Given the description of an element on the screen output the (x, y) to click on. 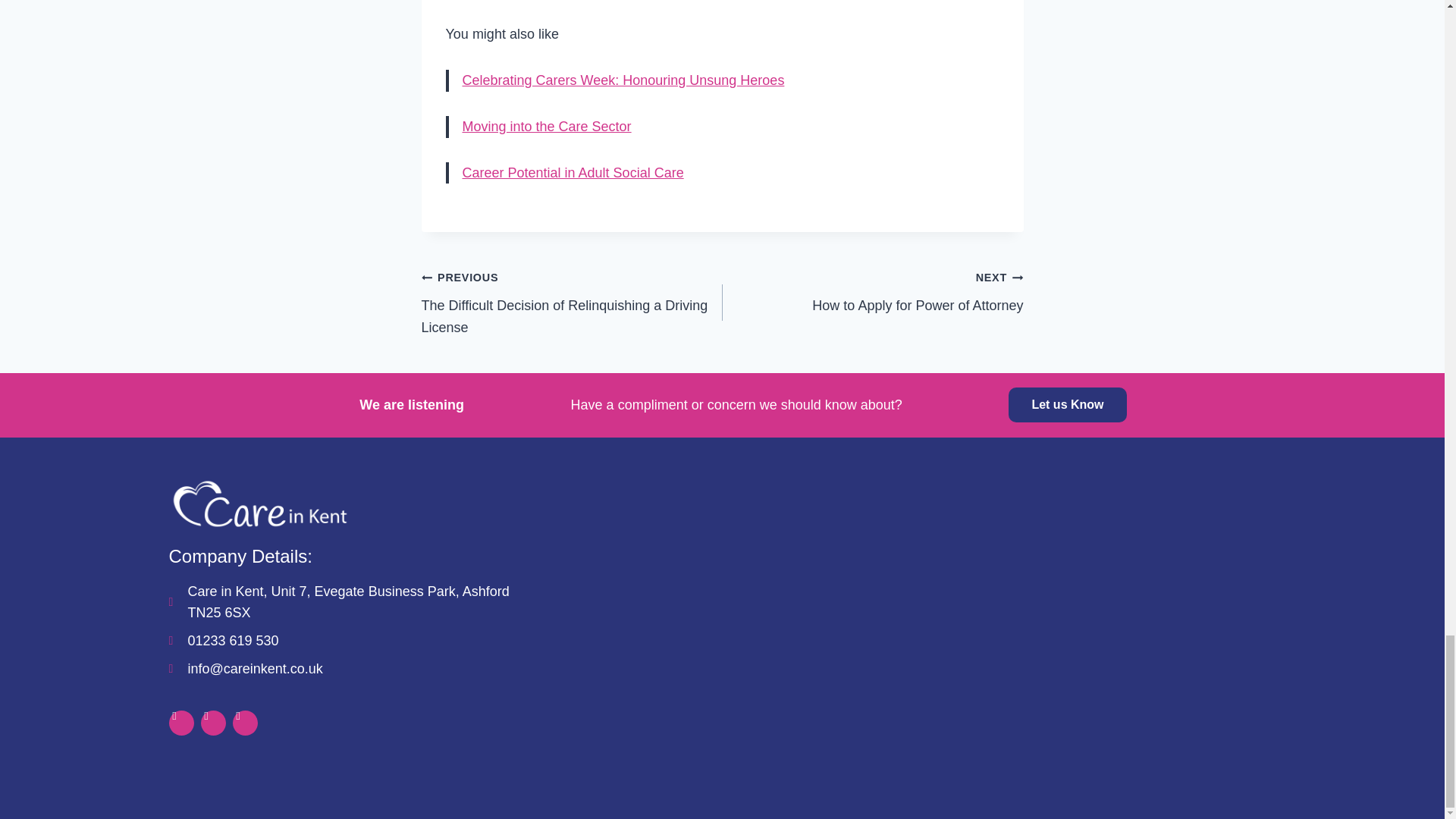
Career Potential in Adult Social Care (573, 172)
Moving into the Care Sector (547, 126)
Celebrating Carers Week: Honouring Unsung Heroes (623, 79)
Let us Know (1067, 404)
